Given the description of an element on the screen output the (x, y) to click on. 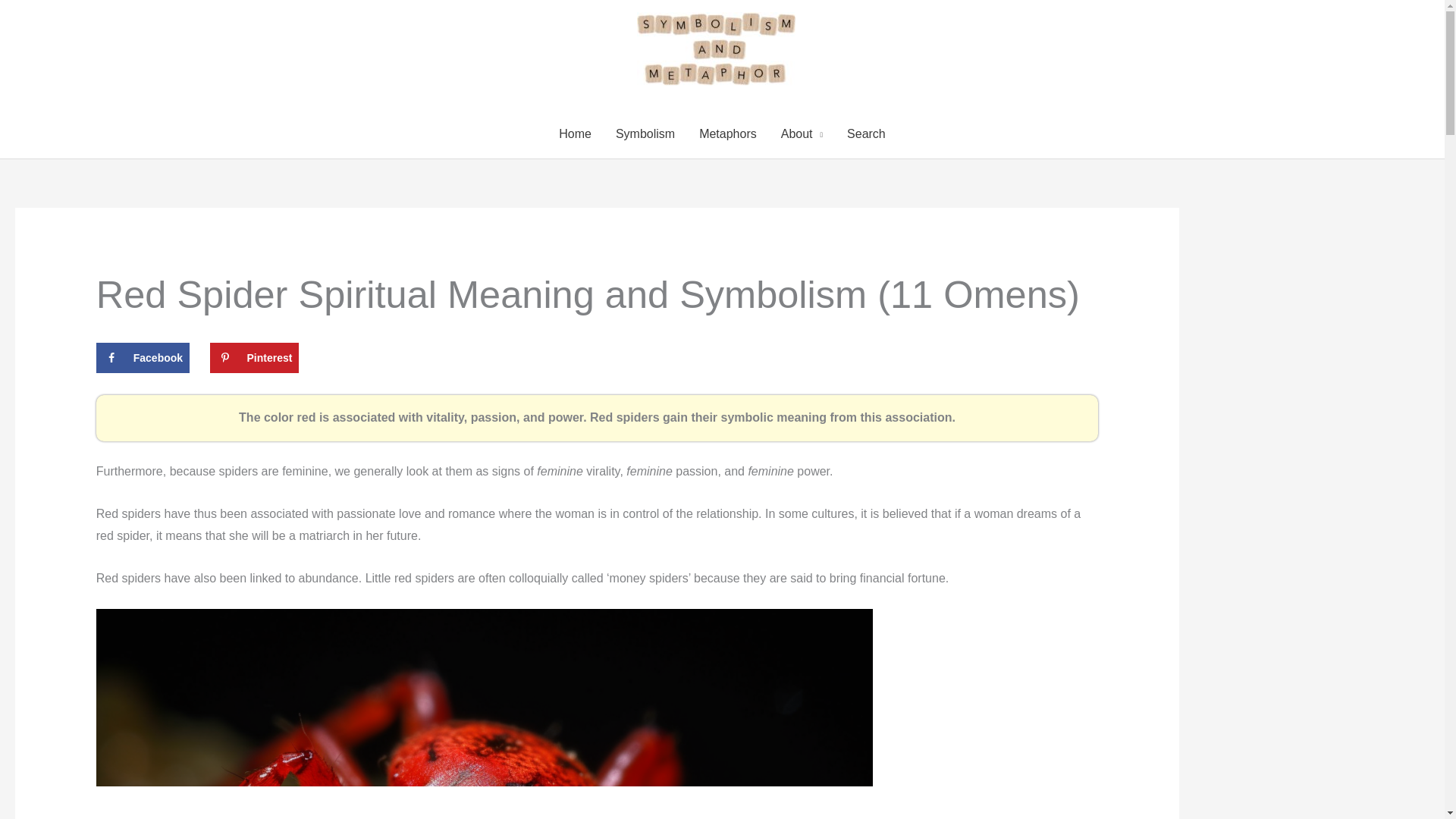
Facebook (142, 358)
Save to Pinterest (253, 358)
Pinterest (253, 358)
Home (575, 133)
Metaphors (727, 133)
Share on Facebook (142, 358)
Search (866, 133)
Symbolism (645, 133)
About (801, 133)
